Given the description of an element on the screen output the (x, y) to click on. 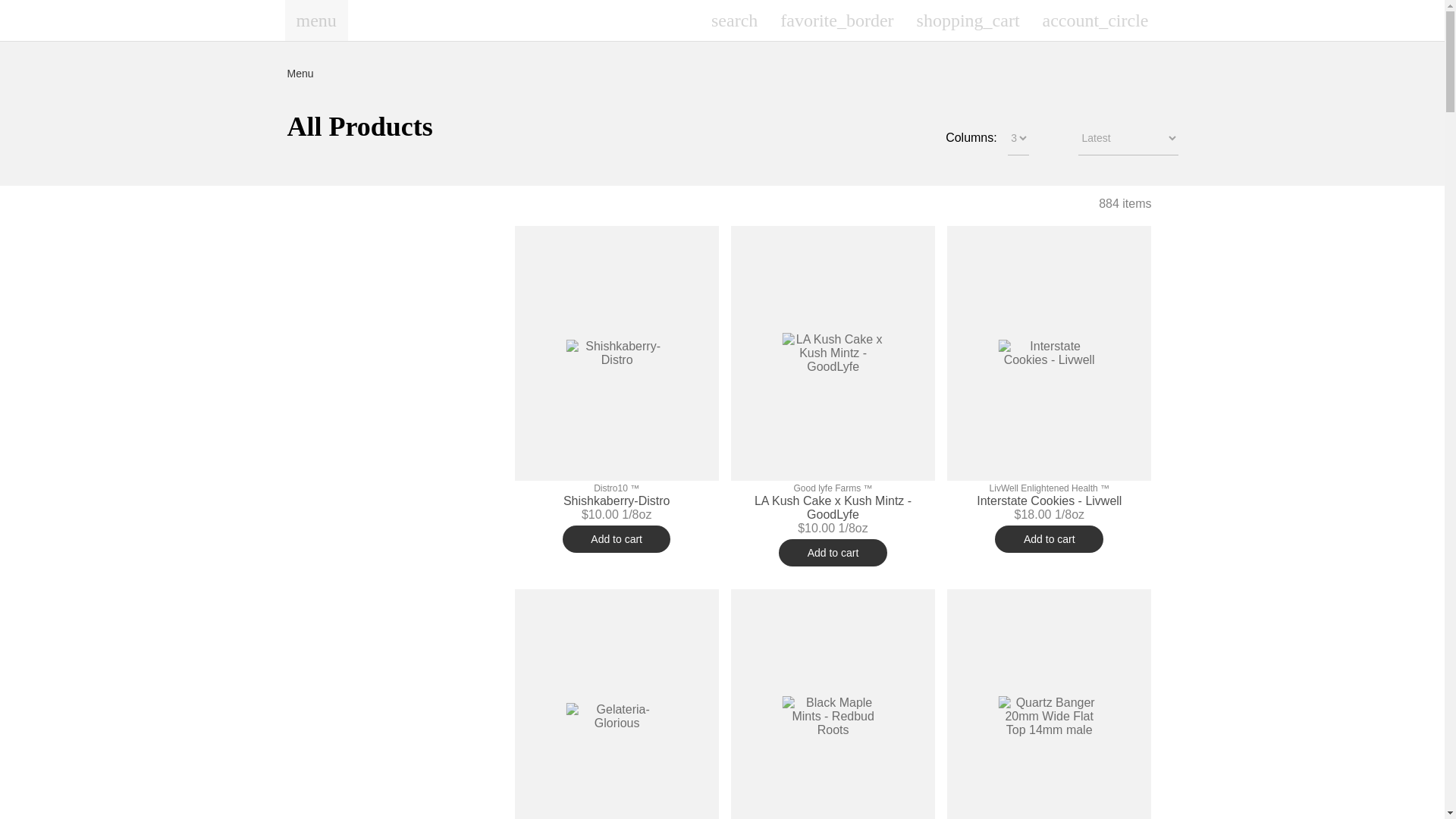
menu (316, 20)
search (734, 20)
Add to cart (1048, 538)
Add to cart (616, 538)
Add to cart (832, 552)
